Given the description of an element on the screen output the (x, y) to click on. 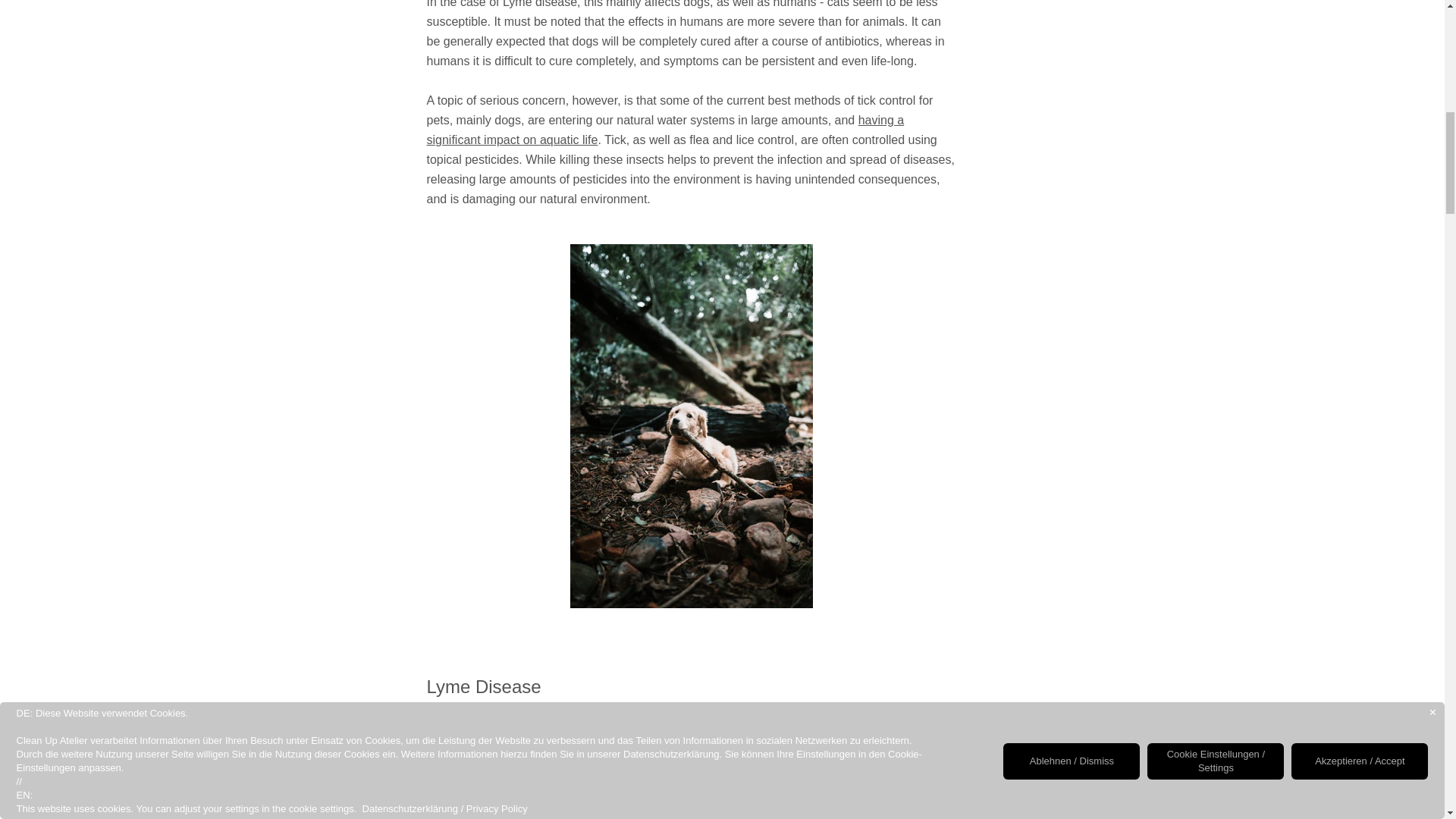
having a significant impact on aquatic life (665, 129)
